Given the description of an element on the screen output the (x, y) to click on. 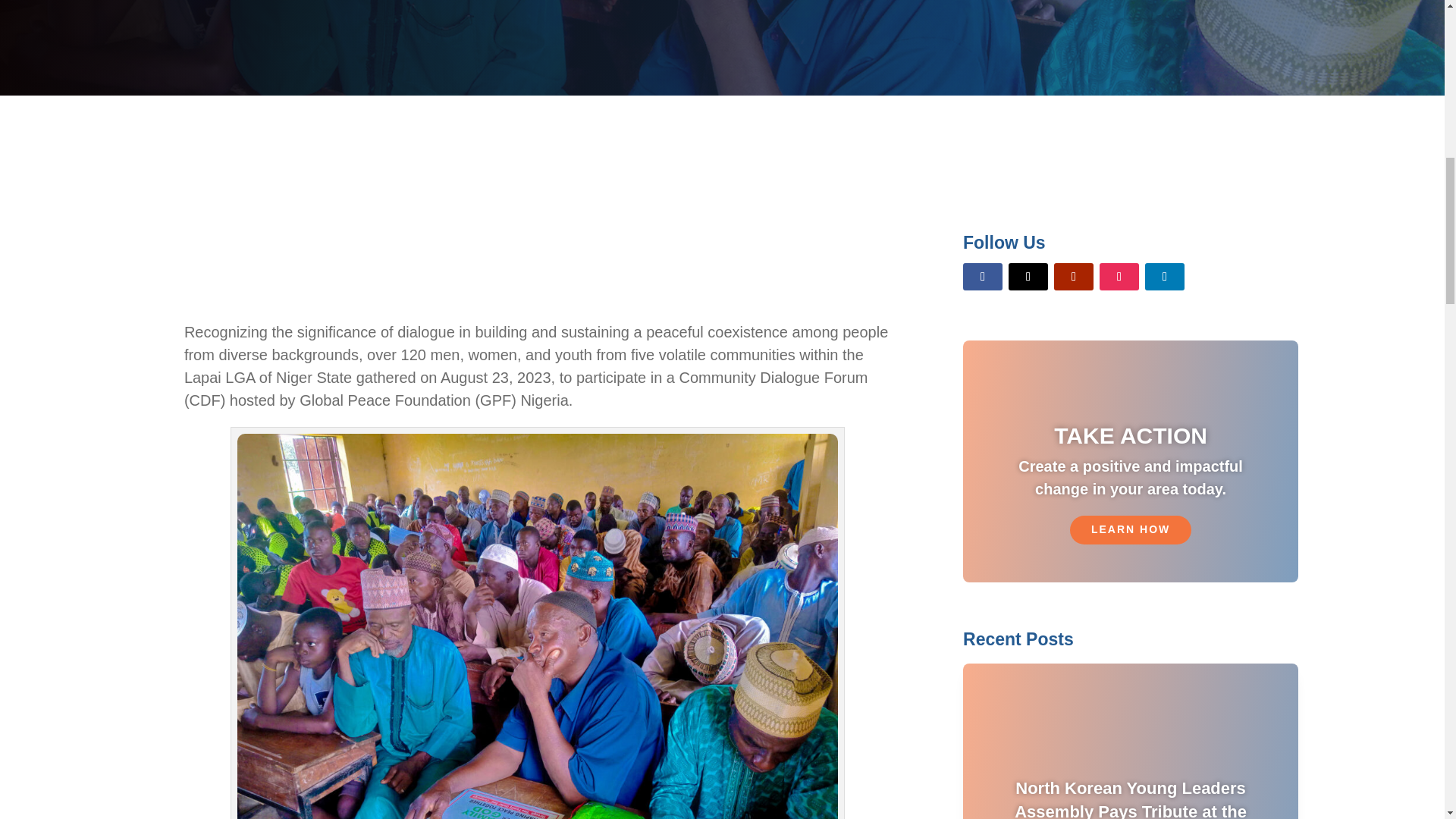
Follow on X (1028, 276)
Follow on Facebook (982, 276)
Follow on LinkedIn (1164, 276)
Follow on Instagram (1118, 276)
Follow on Youtube (1073, 276)
